Given the description of an element on the screen output the (x, y) to click on. 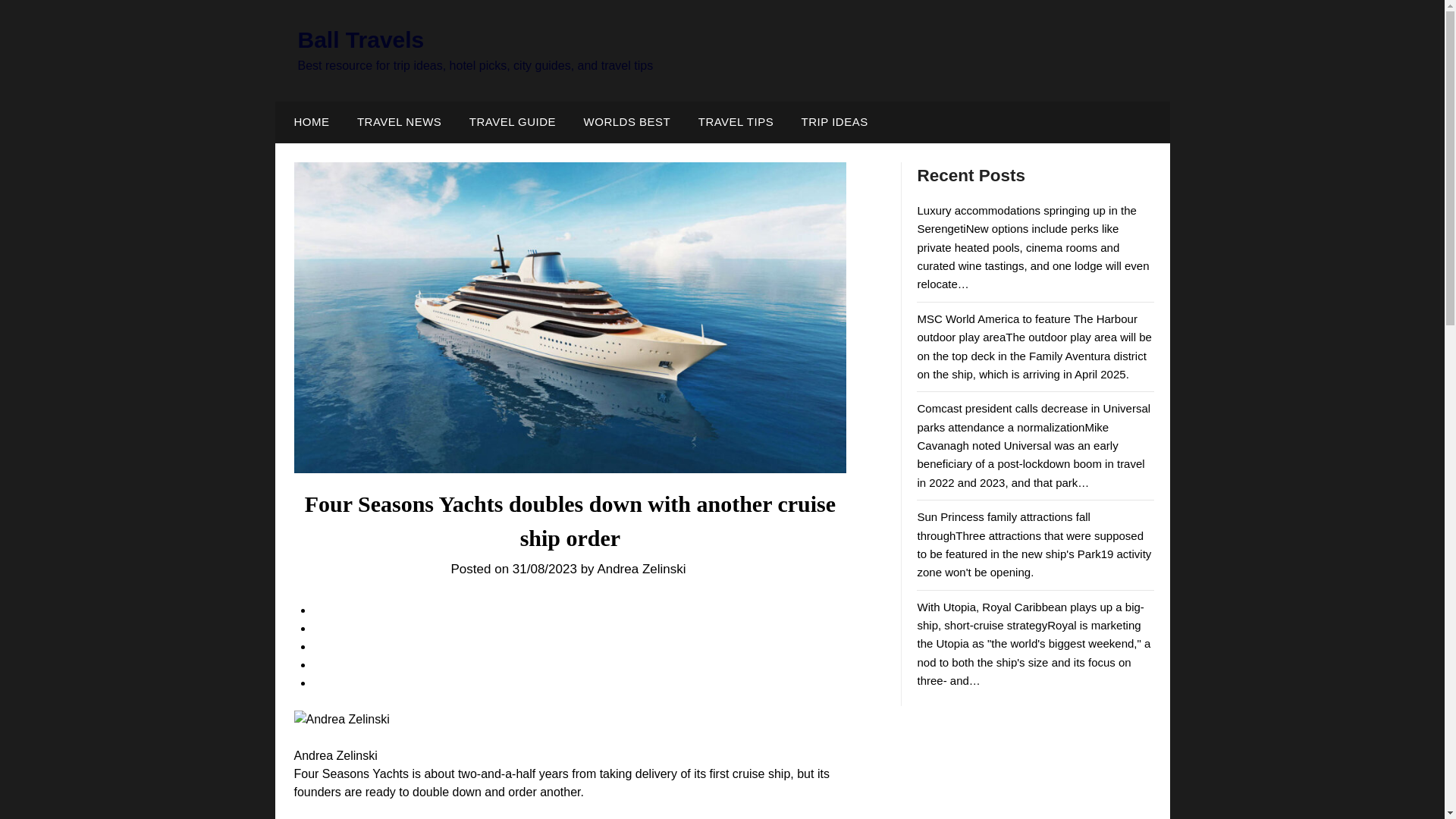
TRIP IDEAS (834, 121)
Ball Travels (360, 39)
TRAVEL NEWS (398, 121)
Andrea Zelinski (342, 719)
TRAVEL TIPS (735, 121)
HOME (307, 121)
WORLDS BEST (627, 121)
Andrea Zelinski  (642, 568)
TRAVEL GUIDE (512, 121)
